Given the description of an element on the screen output the (x, y) to click on. 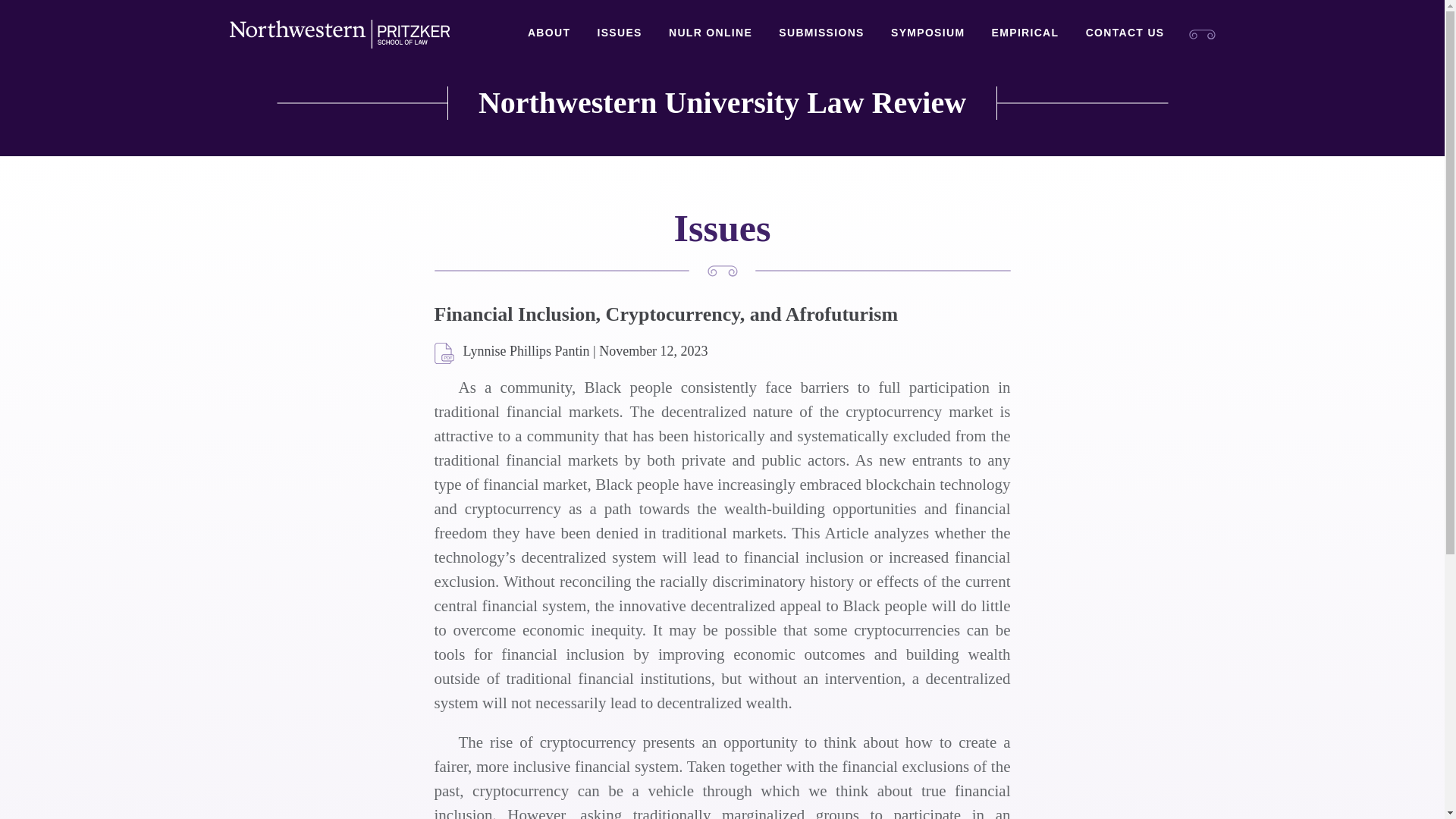
Financial Inclusion, Cryptocurrency, and Afrofuturism (443, 354)
Northwestern University Law Review (722, 102)
Northwestern Pritzker School of Law (338, 34)
SYMPOSIUM (927, 32)
EMPIRICAL (1025, 32)
SUBMISSIONS (820, 32)
CONTACT US (1125, 32)
ISSUES (619, 32)
Northwestern University Law Review (722, 102)
NULR ONLINE (710, 32)
